Given the description of an element on the screen output the (x, y) to click on. 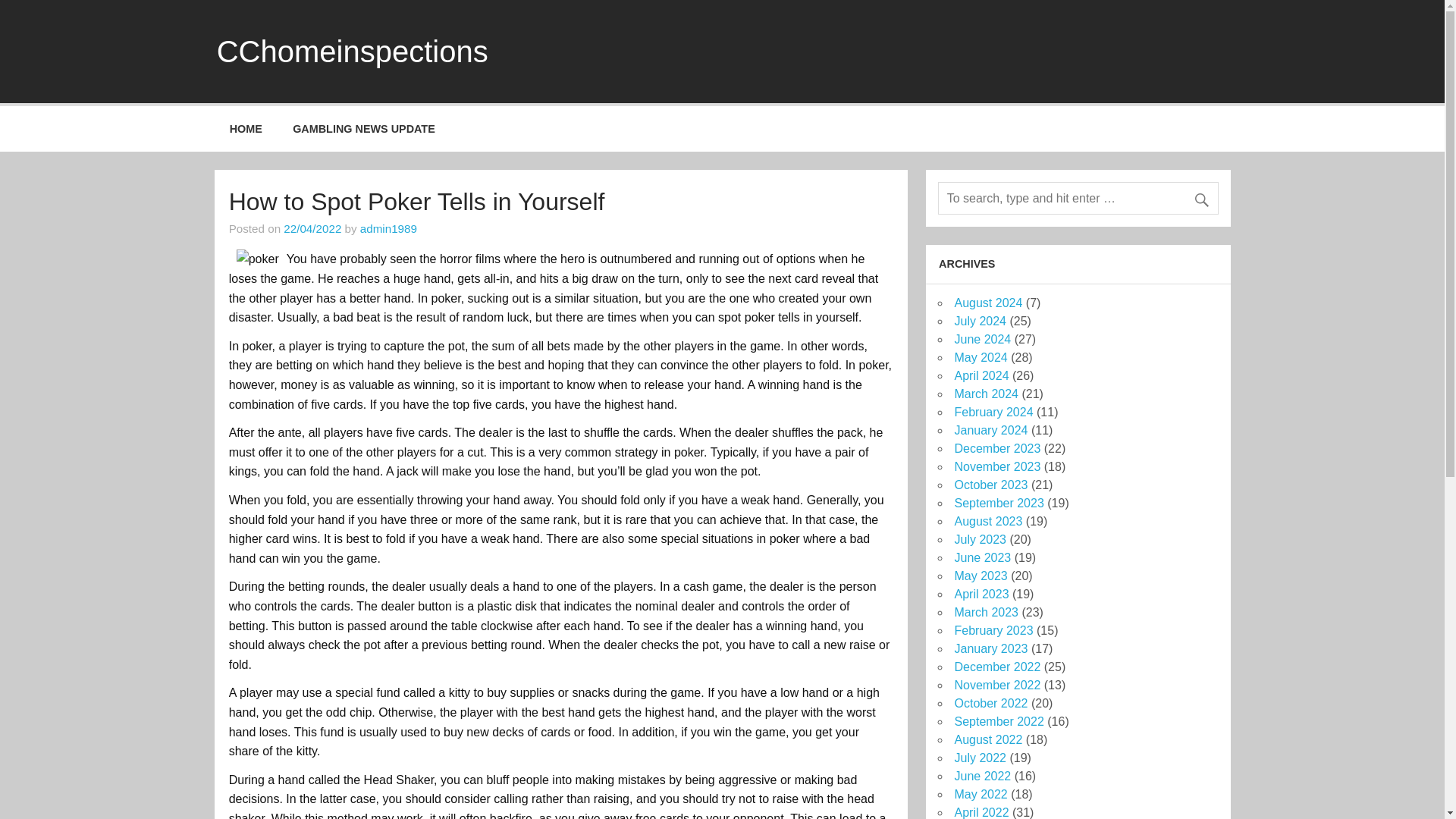
February 2023 (992, 630)
HOME (246, 128)
April 2024 (981, 375)
GAMBLING NEWS UPDATE (363, 128)
May 2023 (980, 575)
June 2024 (981, 338)
April 2023 (981, 594)
January 2023 (990, 648)
22:06 (311, 228)
admin1989 (387, 228)
